Given the description of an element on the screen output the (x, y) to click on. 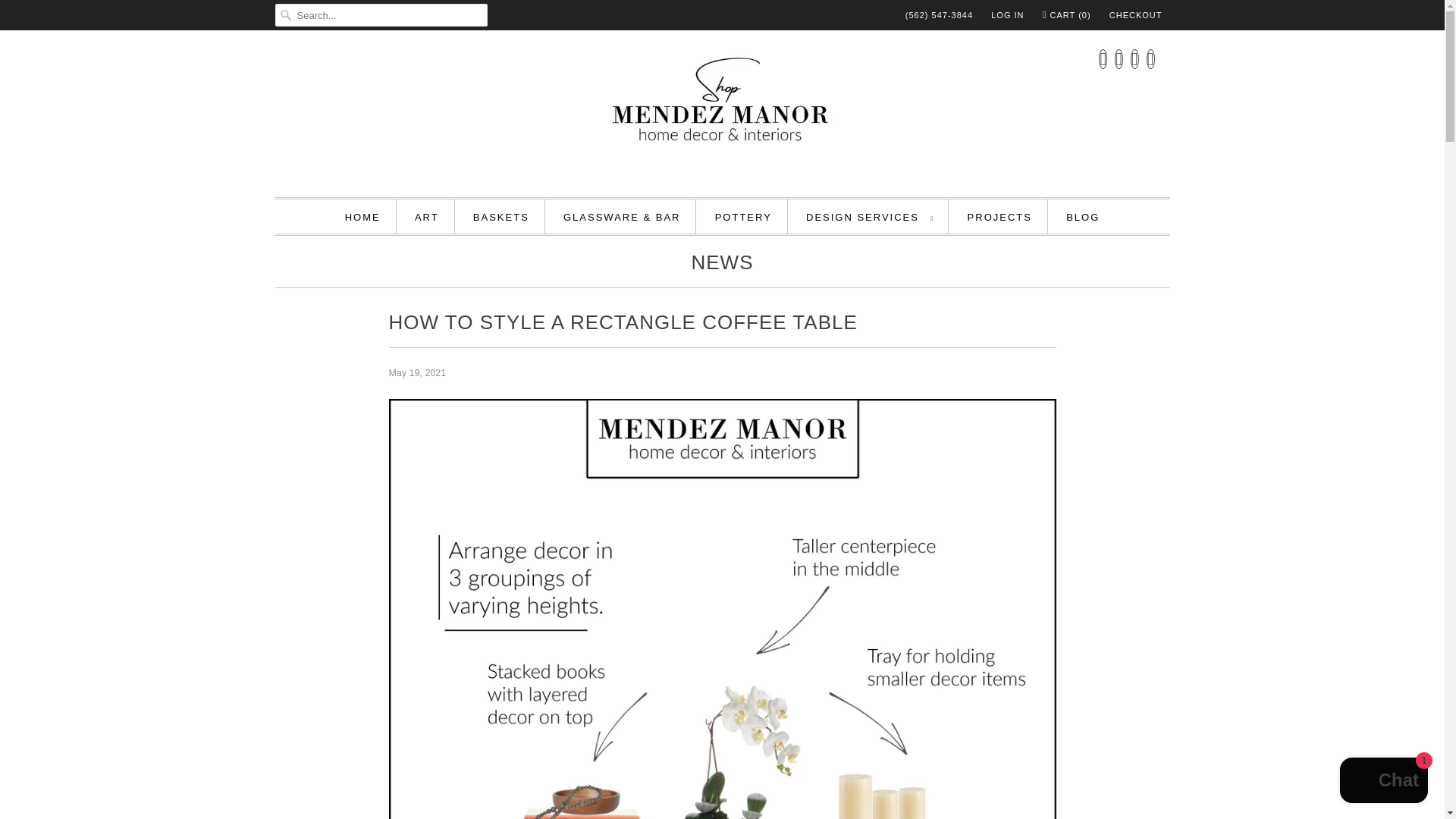
CHECKOUT (1135, 15)
POTTERY (742, 217)
BASKETS (501, 217)
Mendez Manor on Instagram (1134, 58)
BLOG (1082, 217)
Mendez Manor on Facebook (1102, 58)
HOME (362, 217)
News (722, 265)
PROJECTS (1000, 217)
Email Mendez Manor (1150, 58)
DESIGN SERVICES  (869, 217)
NEWS (722, 265)
Mendez Manor (722, 111)
ART (426, 217)
Mendez Manor on Pinterest (1118, 58)
